Given the description of an element on the screen output the (x, y) to click on. 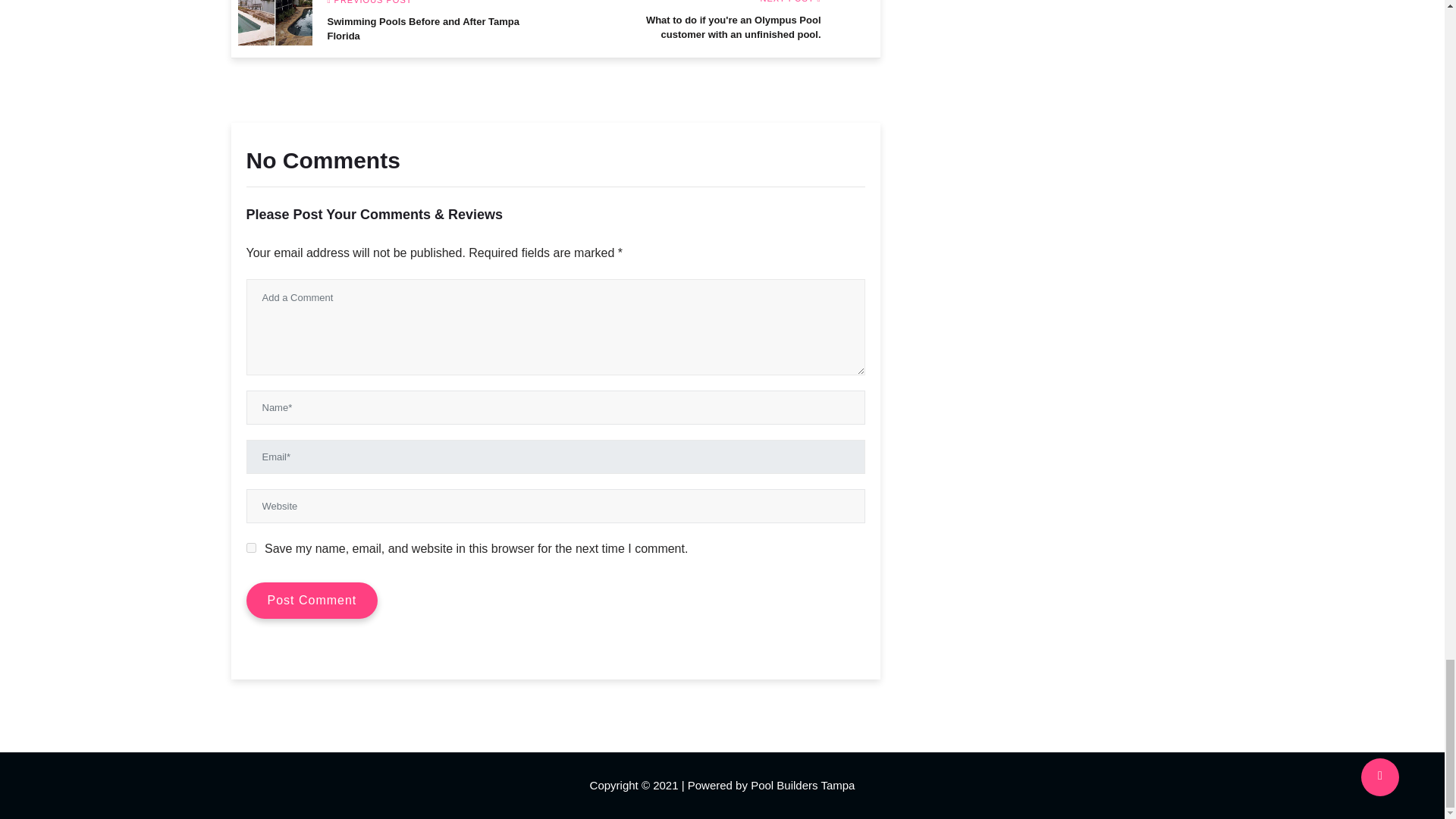
yes (388, 22)
Post Comment (251, 547)
